Given the description of an element on the screen output the (x, y) to click on. 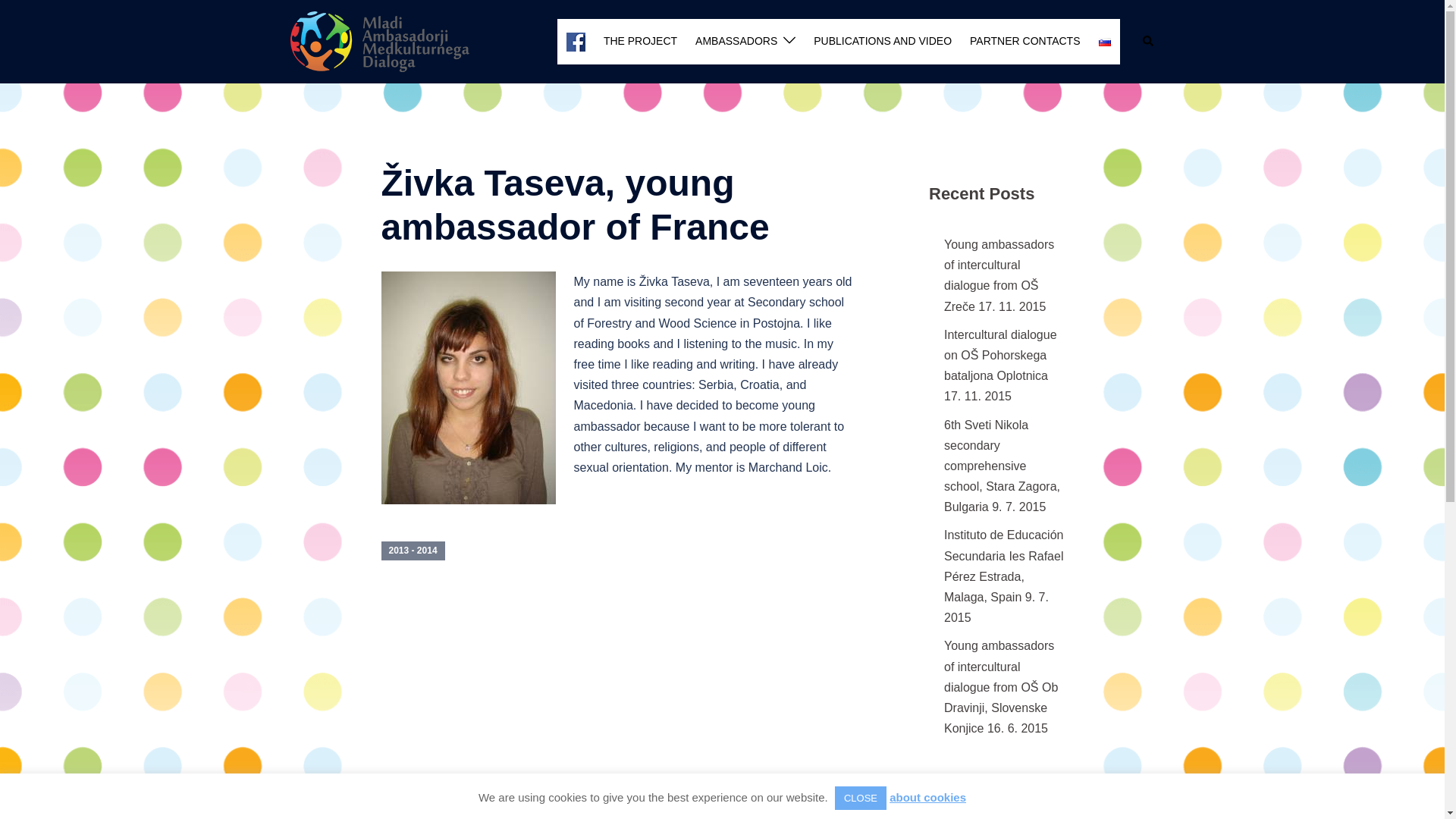
PUBLICATIONS AND VIDEO (882, 41)
THE PROJECT (640, 41)
2013 - 2014 (412, 550)
Facebook (575, 41)
Search (1147, 41)
AMBASSADORS (736, 41)
YAID (378, 40)
PARTNER CONTACTS (1024, 41)
